Given the description of an element on the screen output the (x, y) to click on. 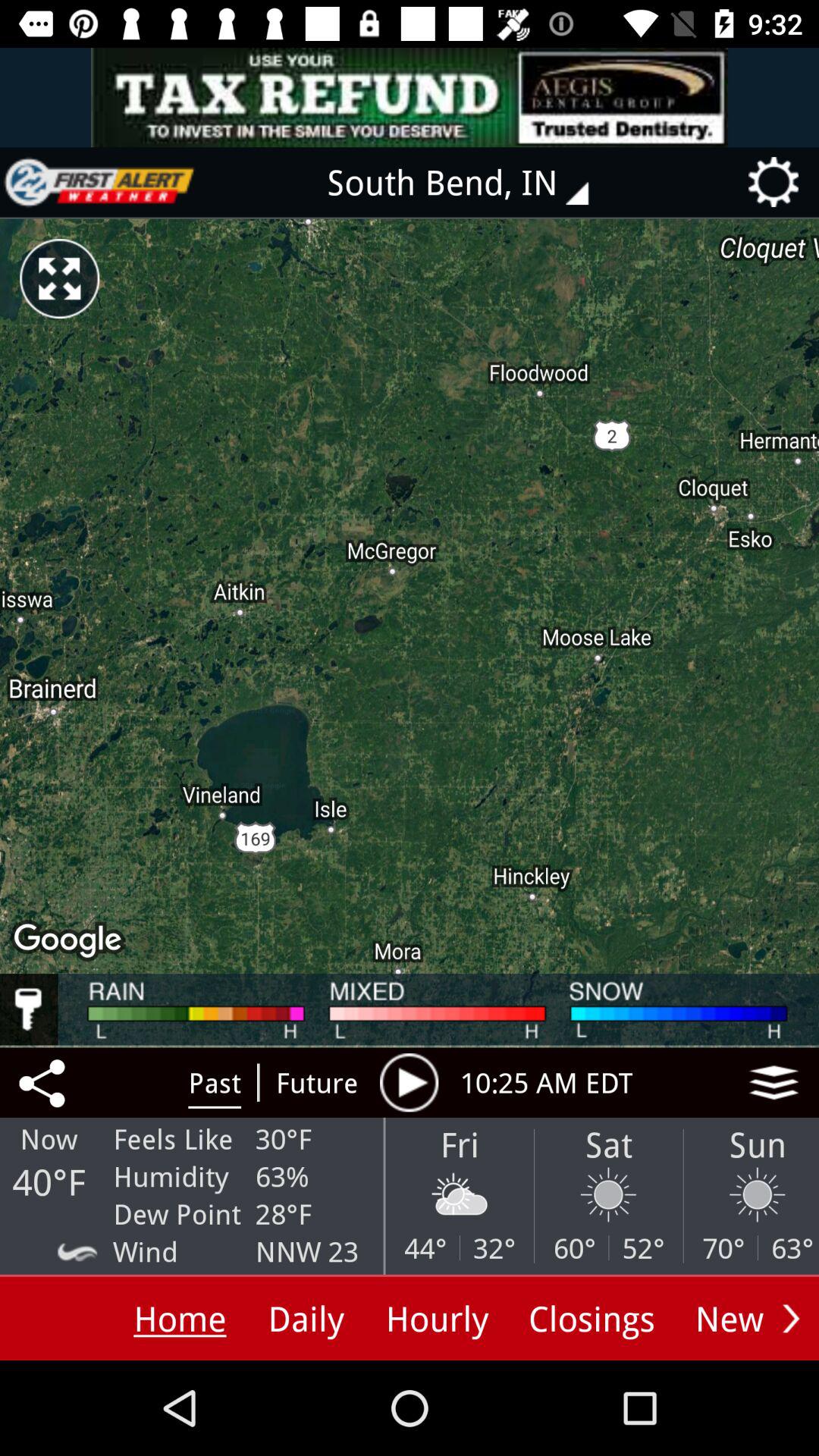
click on the icon below sat (608, 1195)
